Given the description of an element on the screen output the (x, y) to click on. 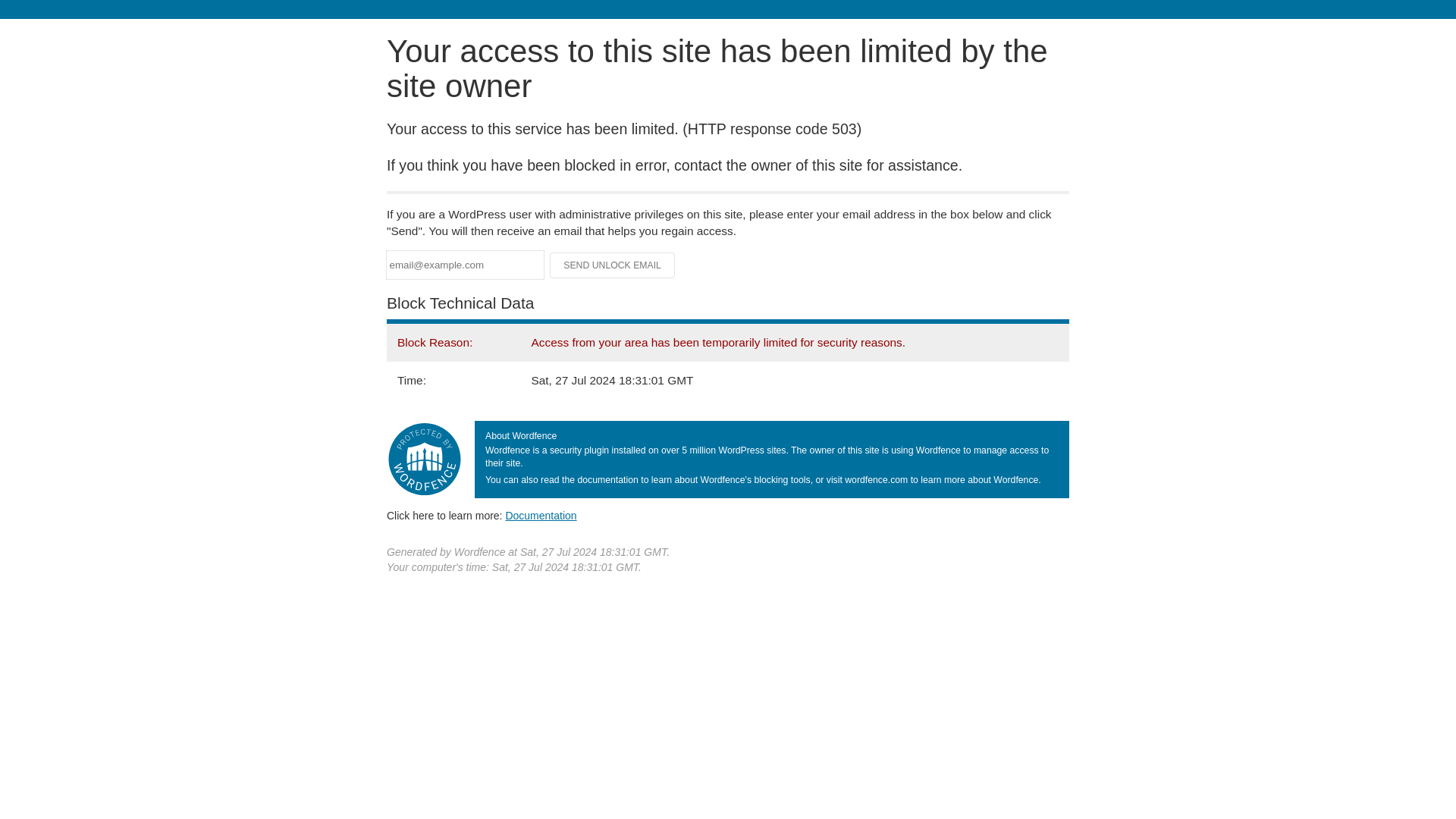
Send Unlock Email (612, 265)
Send Unlock Email (612, 265)
Documentation (540, 515)
